Given the description of an element on the screen output the (x, y) to click on. 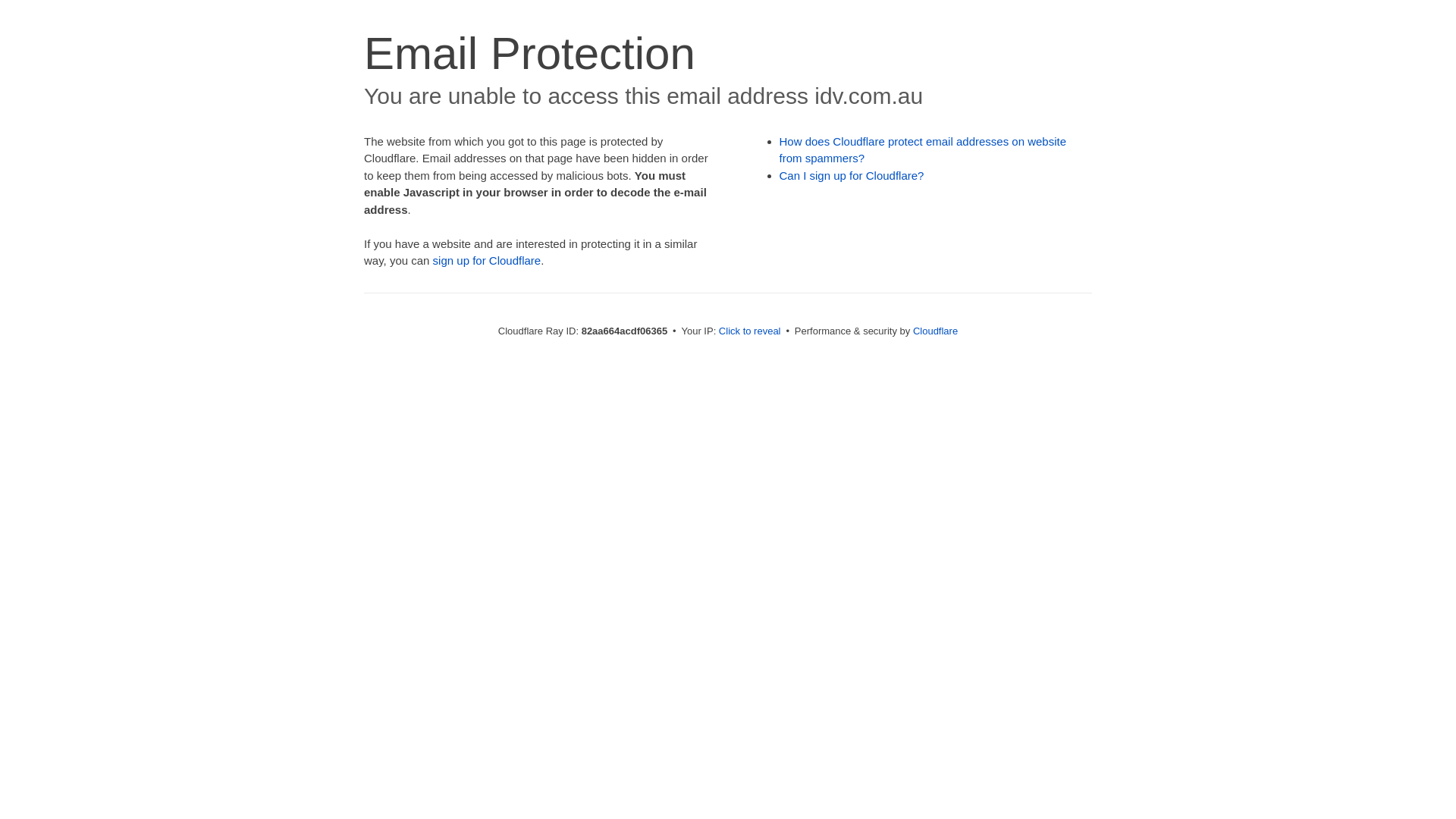
sign up for Cloudflare Element type: text (487, 260)
Can I sign up for Cloudflare? Element type: text (851, 175)
Click to reveal Element type: text (749, 330)
Cloudflare Element type: text (935, 330)
